Given the description of an element on the screen output the (x, y) to click on. 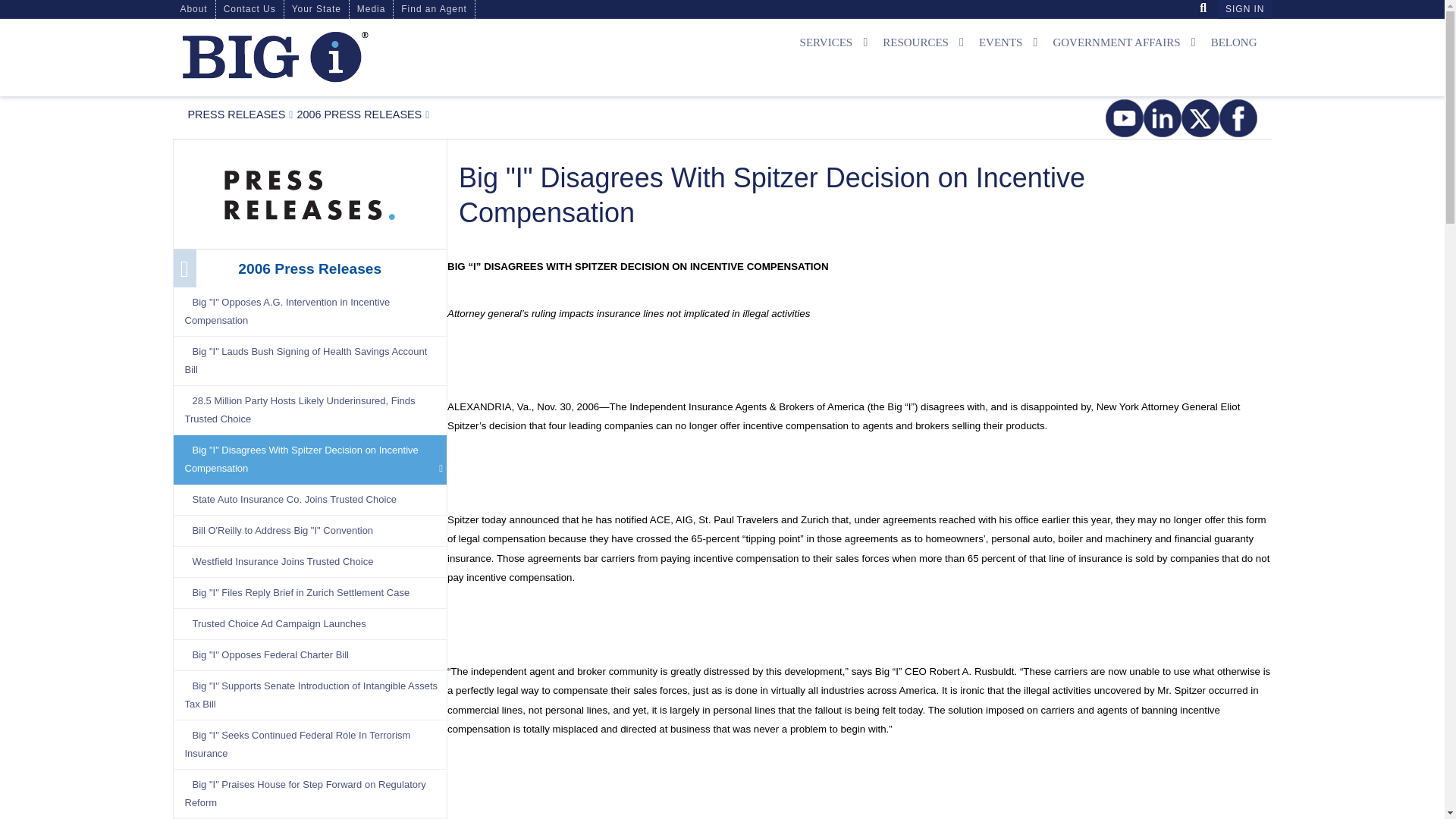
Contact Us (249, 9)
Home (350, 56)
Home (274, 56)
Media (310, 191)
Media (371, 9)
Your State (316, 9)
2006 (359, 114)
Media (236, 114)
About (194, 9)
Find an Agent (433, 9)
SIGN IN (1244, 9)
Sign In to access benefits (1244, 9)
